Given the description of an element on the screen output the (x, y) to click on. 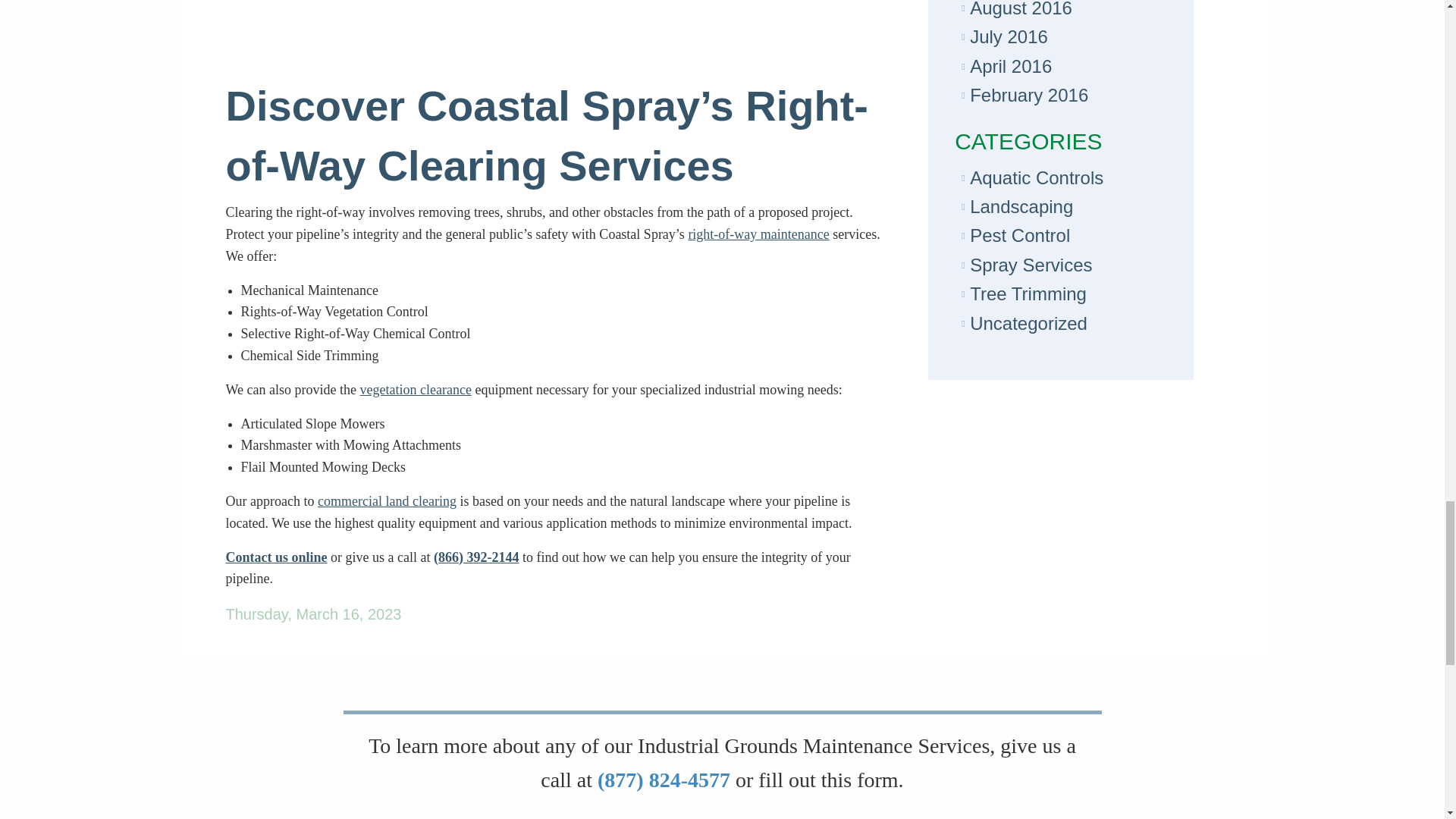
Contact us online (276, 557)
right-of-way maintenance (757, 233)
vegetation clearance (414, 389)
commercial land clearing (387, 500)
